Given the description of an element on the screen output the (x, y) to click on. 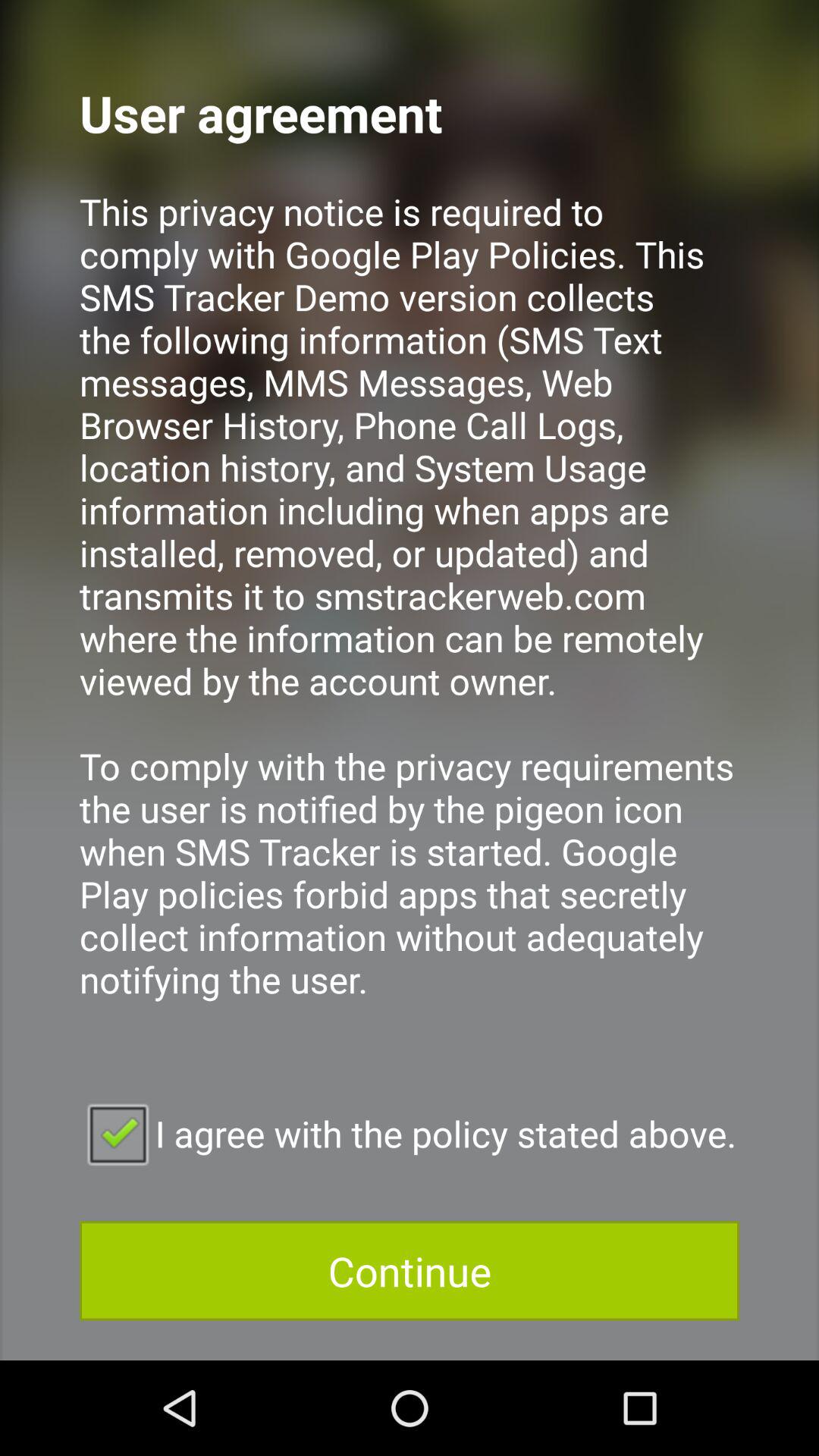
flip until i agree with (409, 1133)
